Given the description of an element on the screen output the (x, y) to click on. 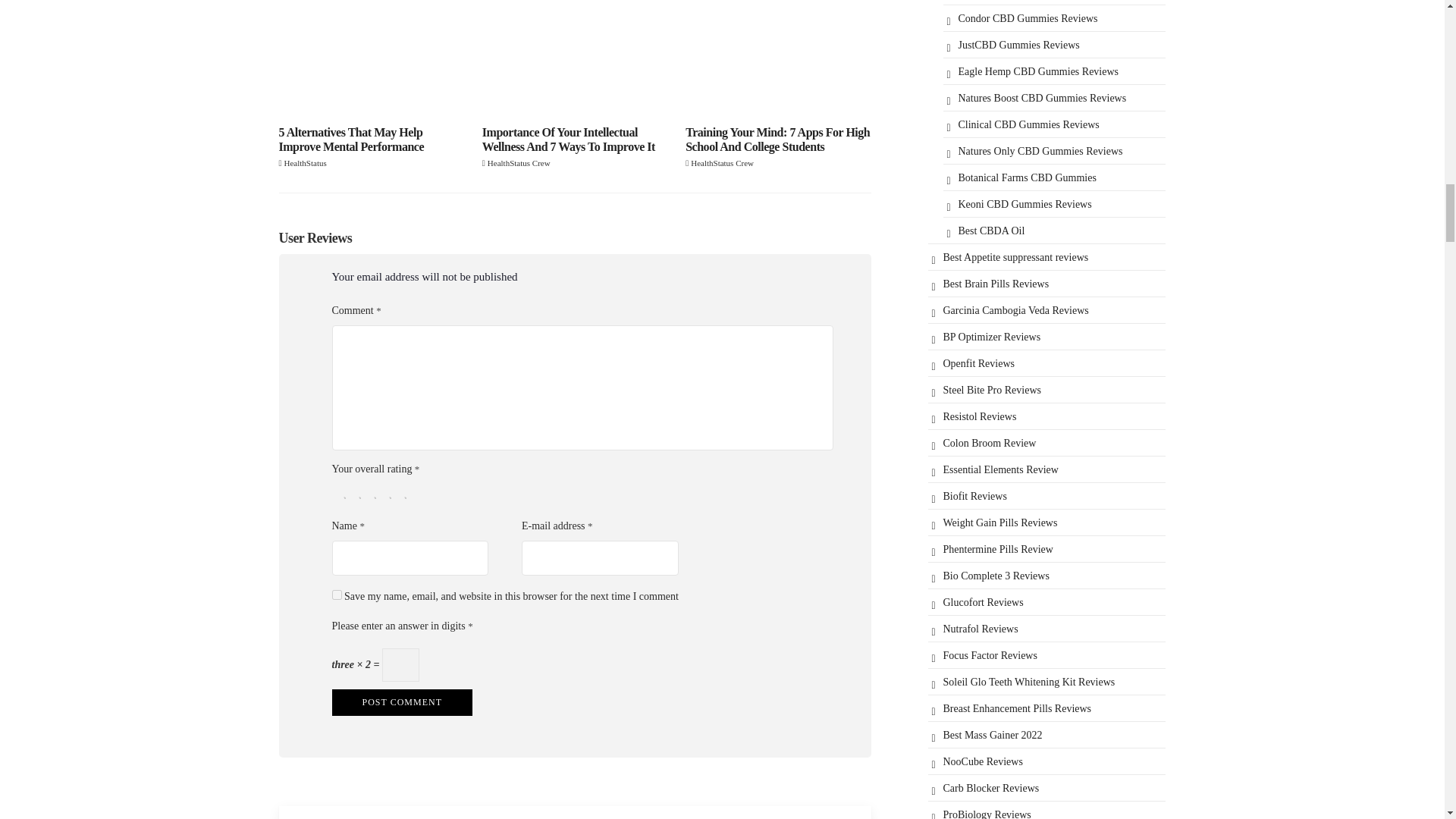
yes (336, 594)
5 Alternatives That May Help Improve Mental Performance (371, 56)
Post Comment (401, 702)
